Given the description of an element on the screen output the (x, y) to click on. 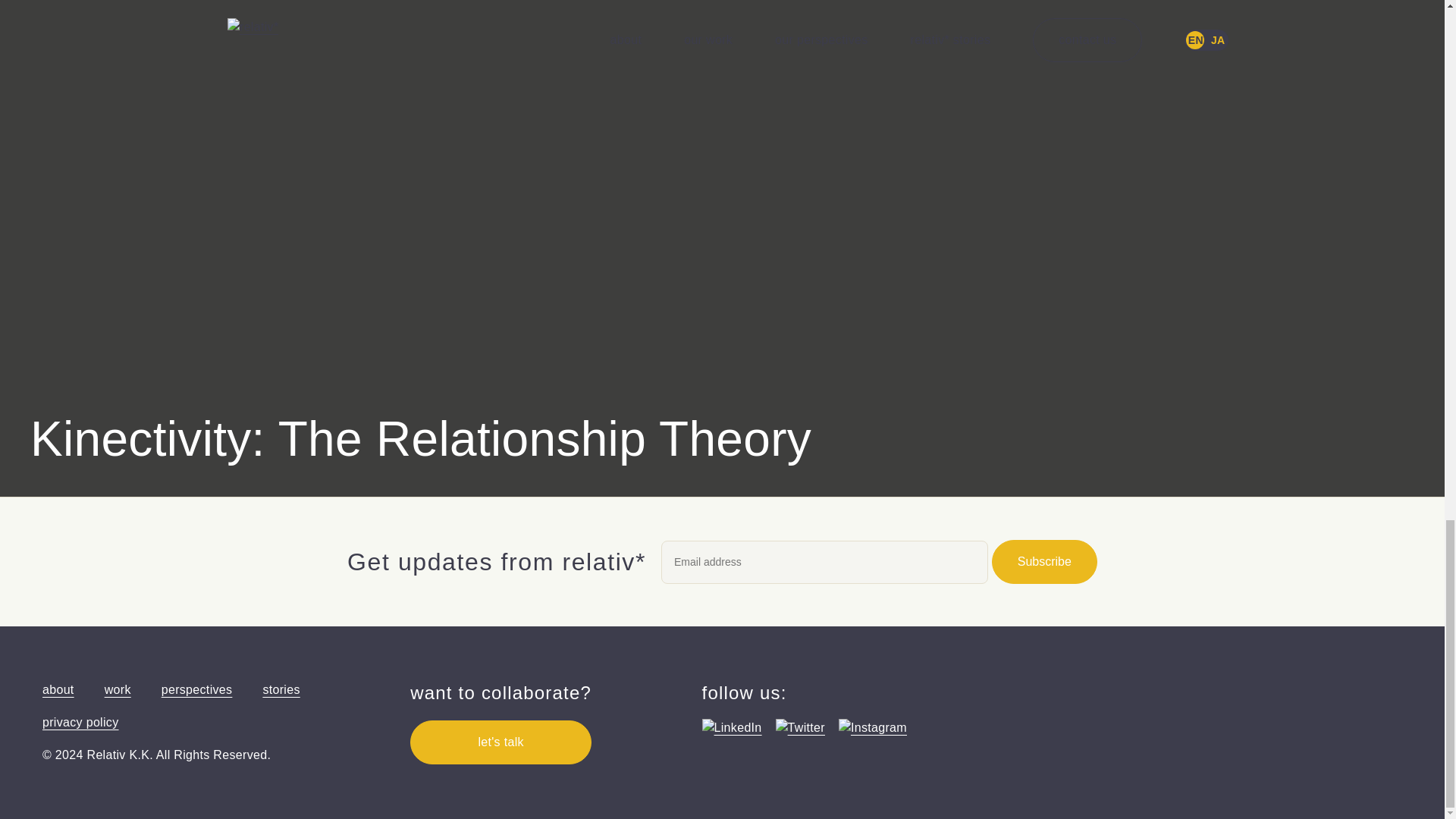
perspectives (196, 689)
stories (280, 689)
work (117, 689)
Subscribe (1044, 561)
let's talk (500, 742)
about (58, 689)
privacy policy (80, 721)
